Given the description of an element on the screen output the (x, y) to click on. 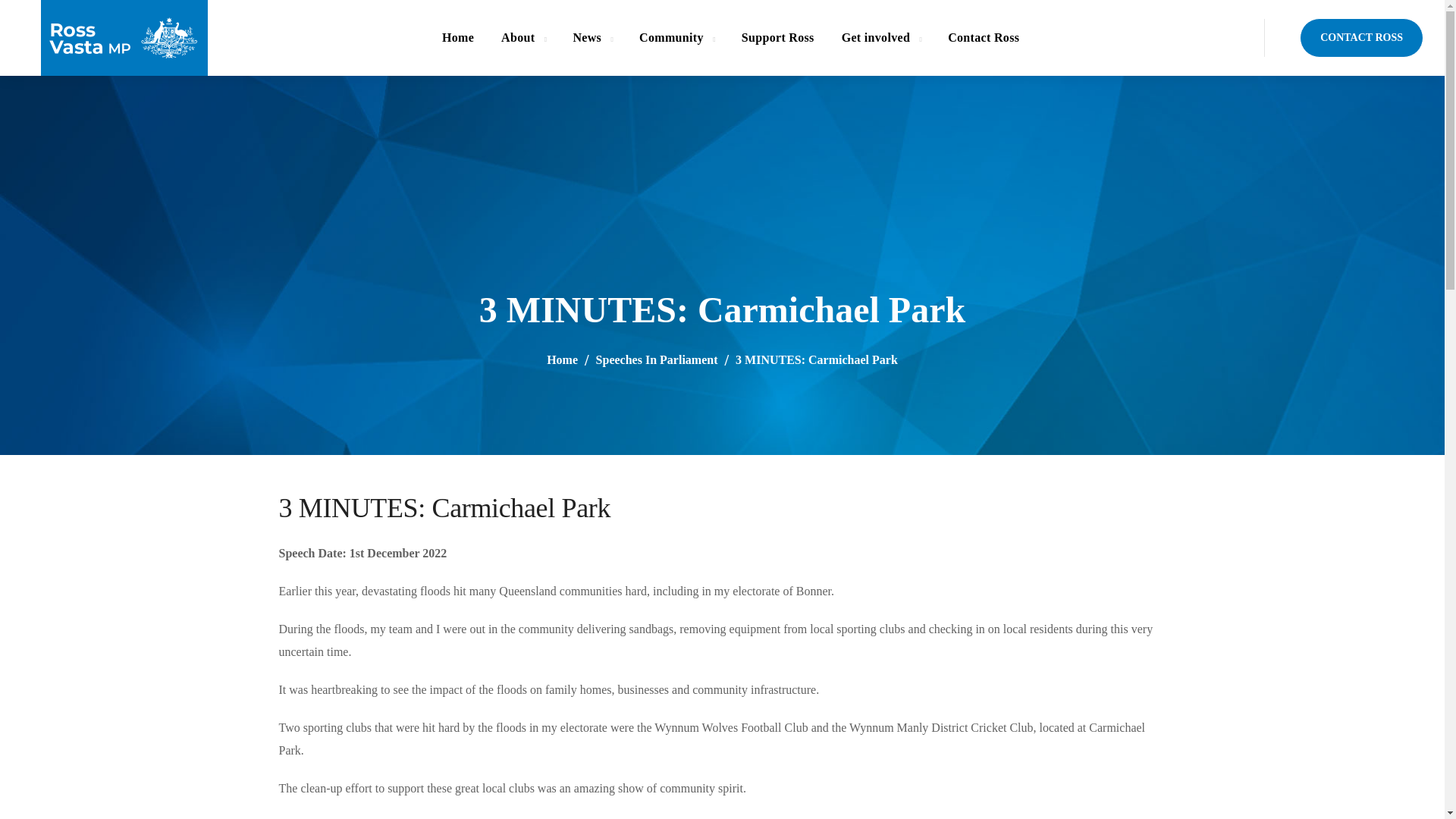
About (523, 38)
Support Ross (778, 38)
CONTACT ROSS (1361, 37)
Community (677, 38)
Contact Ross (983, 38)
Get involved (881, 38)
